Given the description of an element on the screen output the (x, y) to click on. 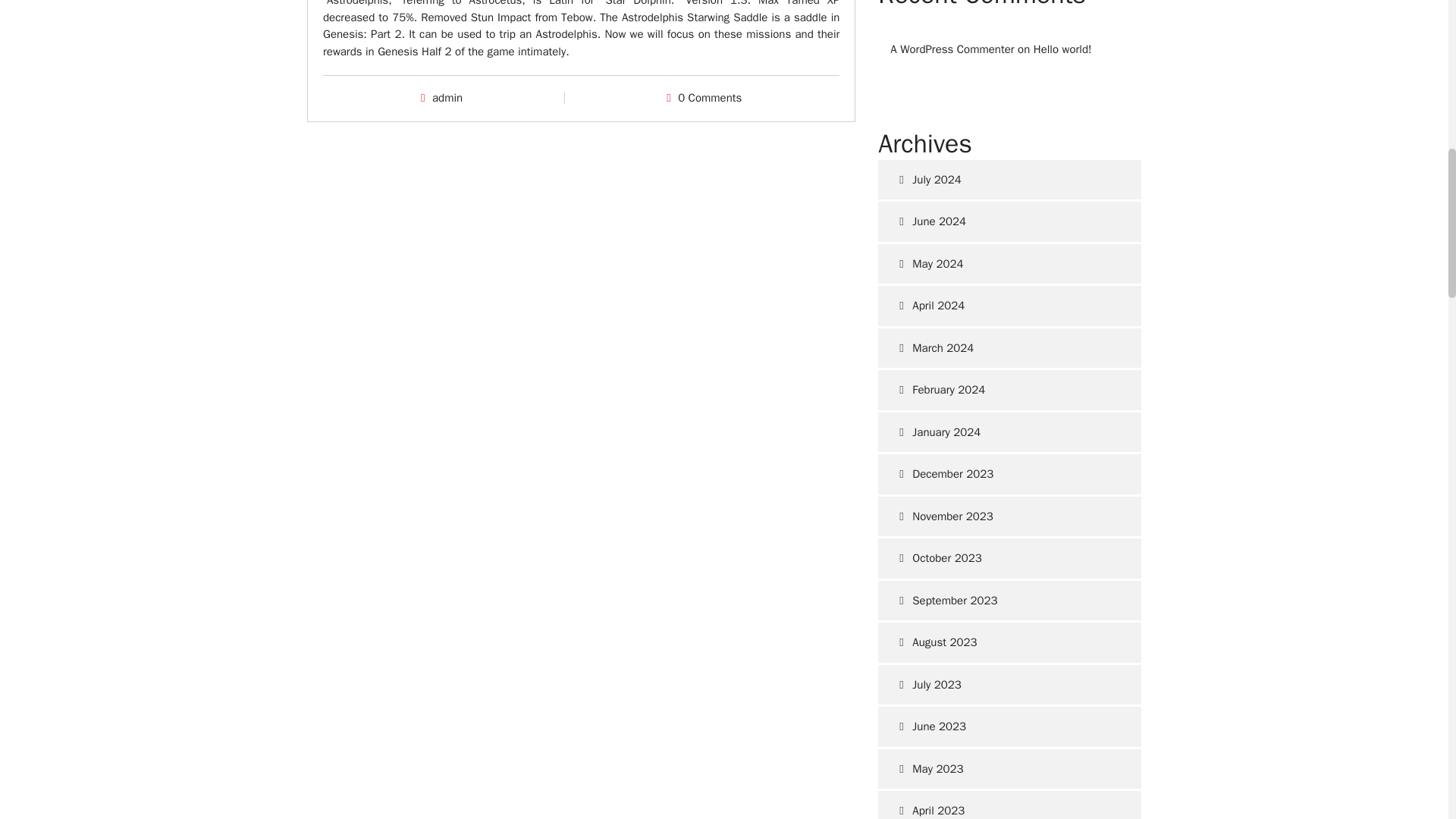
August 2023 (1009, 642)
May 2024 (1009, 264)
January 2024 (1009, 432)
September 2023 (1009, 600)
admin (447, 97)
A WordPress Commenter (951, 49)
July 2023 (1009, 685)
0 Comments (709, 97)
June 2023 (1009, 726)
November 2023 (1009, 516)
